Given the description of an element on the screen output the (x, y) to click on. 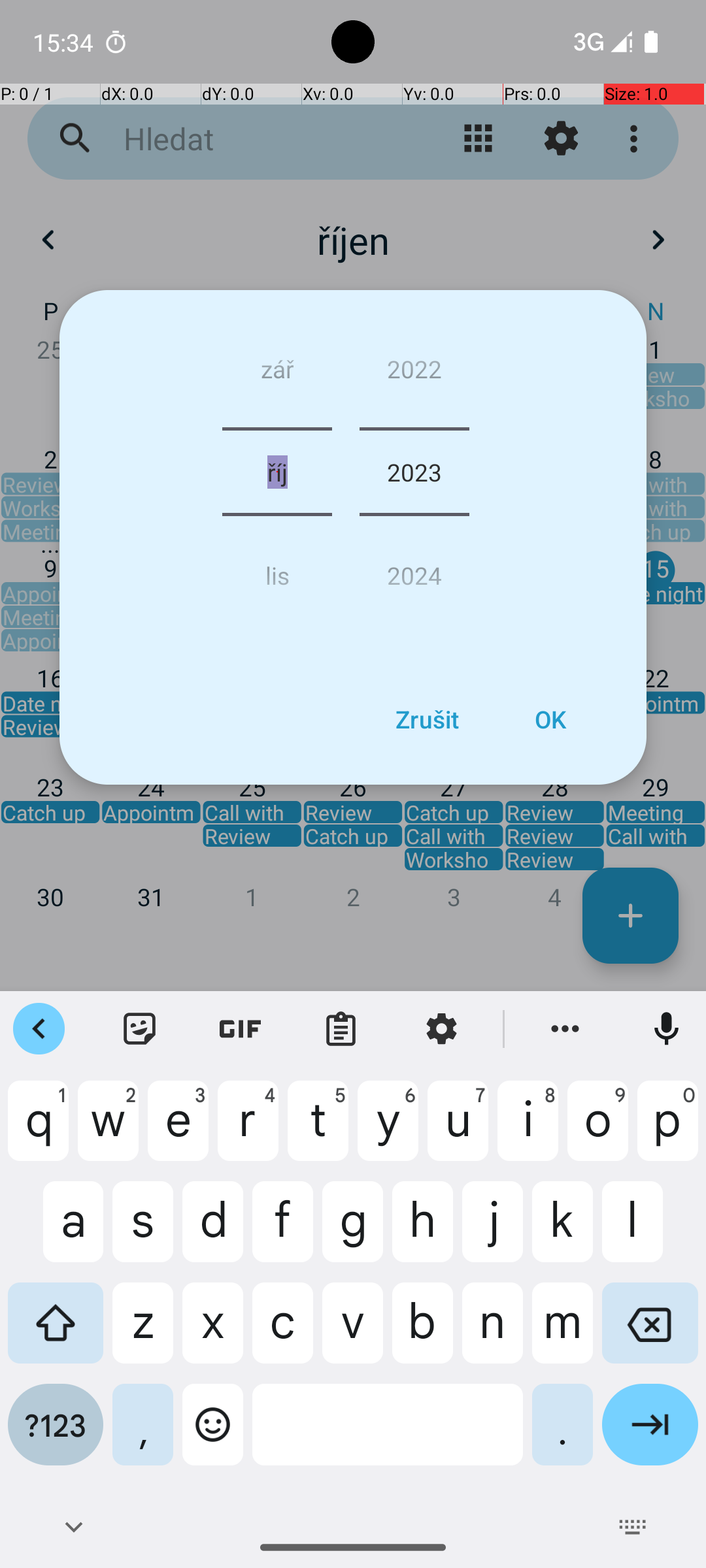
zář Element type: android.widget.Button (277, 373)
říj Element type: android.widget.EditText (277, 471)
lis Element type: android.widget.Button (277, 569)
